Given the description of an element on the screen output the (x, y) to click on. 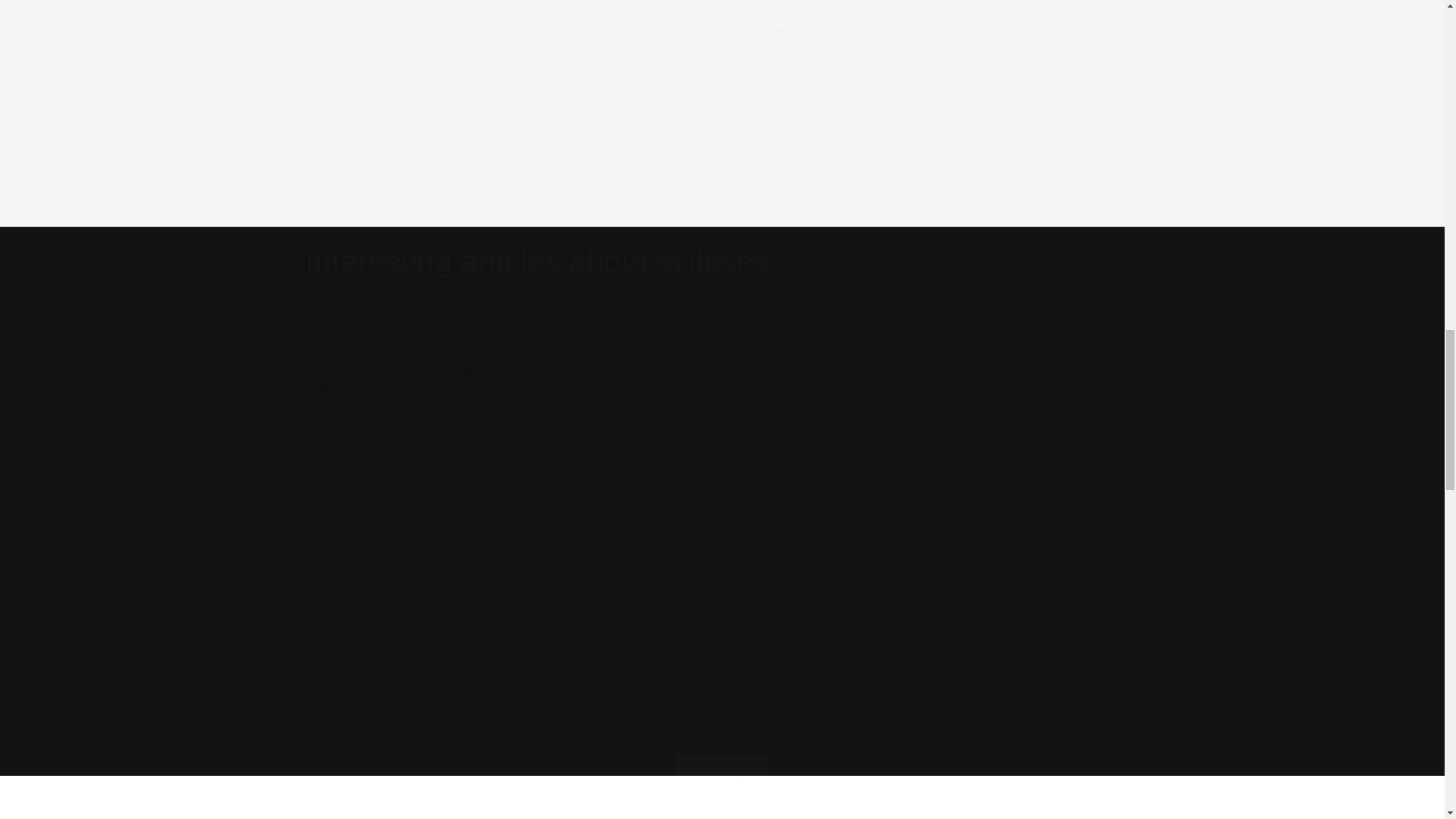
Ver todo (721, 754)
Publicar comentario (527, 196)
Interesting articles about eclipses (536, 261)
Publicar comentario (527, 196)
Solar Eclipse Types: Total, Partial, and Annular (406, 490)
